Given the description of an element on the screen output the (x, y) to click on. 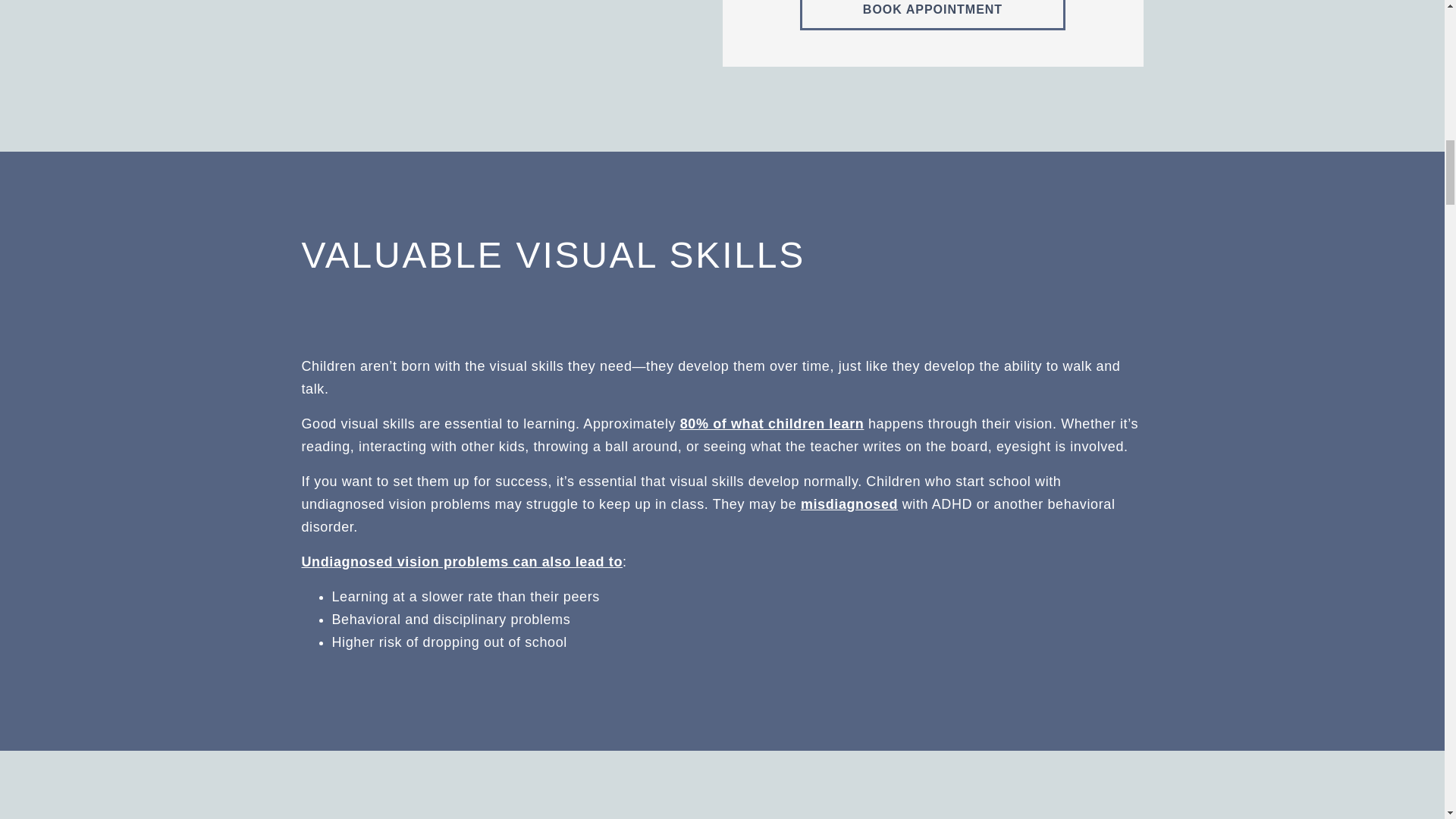
Undiagnosed vision problems can also lead to (462, 561)
misdiagnosed (849, 503)
BOOK APPOINTMENT (932, 15)
